Given the description of an element on the screen output the (x, y) to click on. 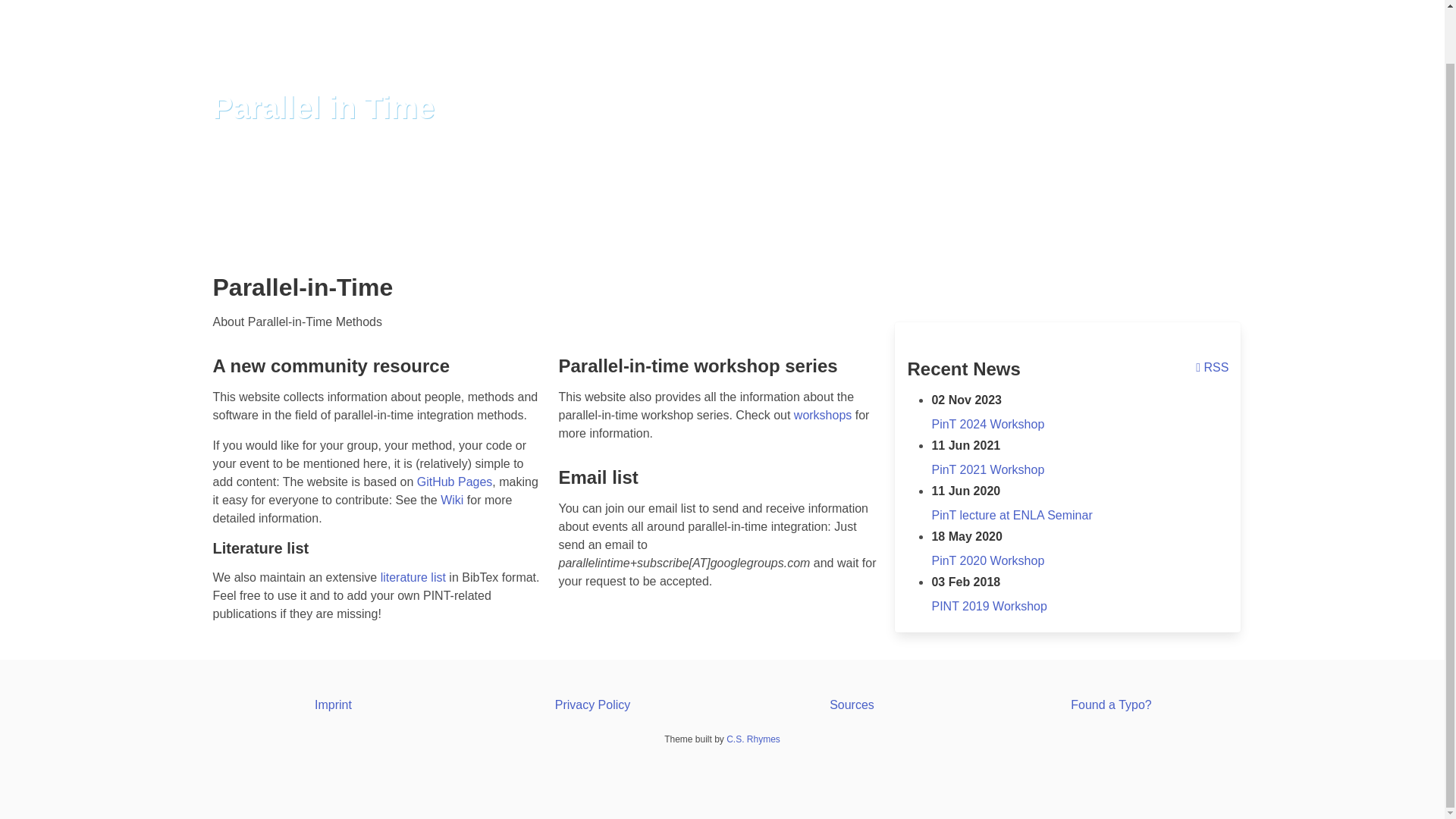
workshops (822, 414)
PinT 2021 Workshop (987, 469)
Imprint (333, 704)
Wiki (452, 499)
C.S. Rhymes (753, 738)
PINT 2019 Workshop (988, 605)
Privacy Policy (592, 704)
RSS (1211, 367)
PinT 2020 Workshop (987, 560)
Sources (852, 704)
